Given the description of an element on the screen output the (x, y) to click on. 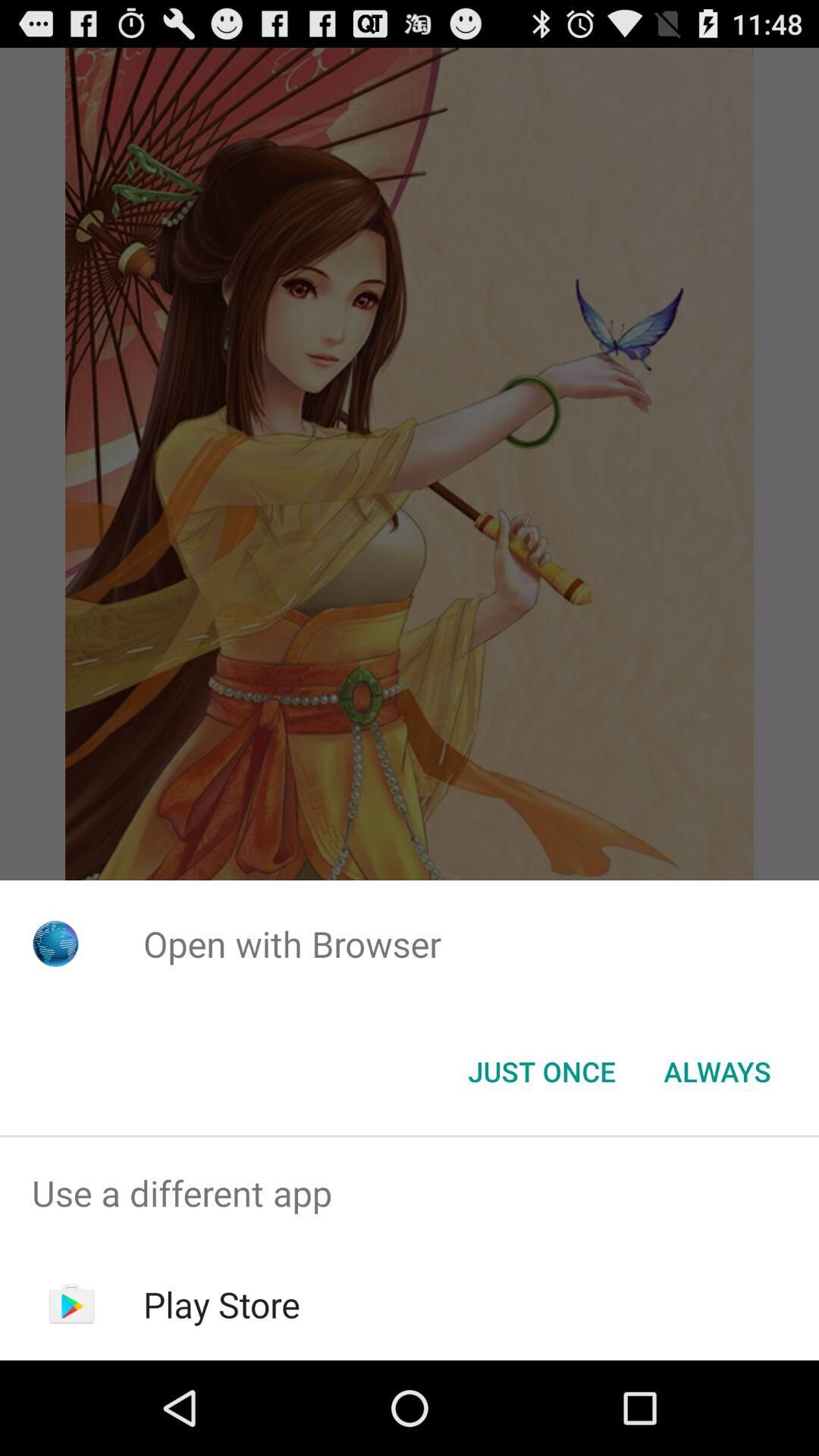
click just once button (541, 1071)
